Given the description of an element on the screen output the (x, y) to click on. 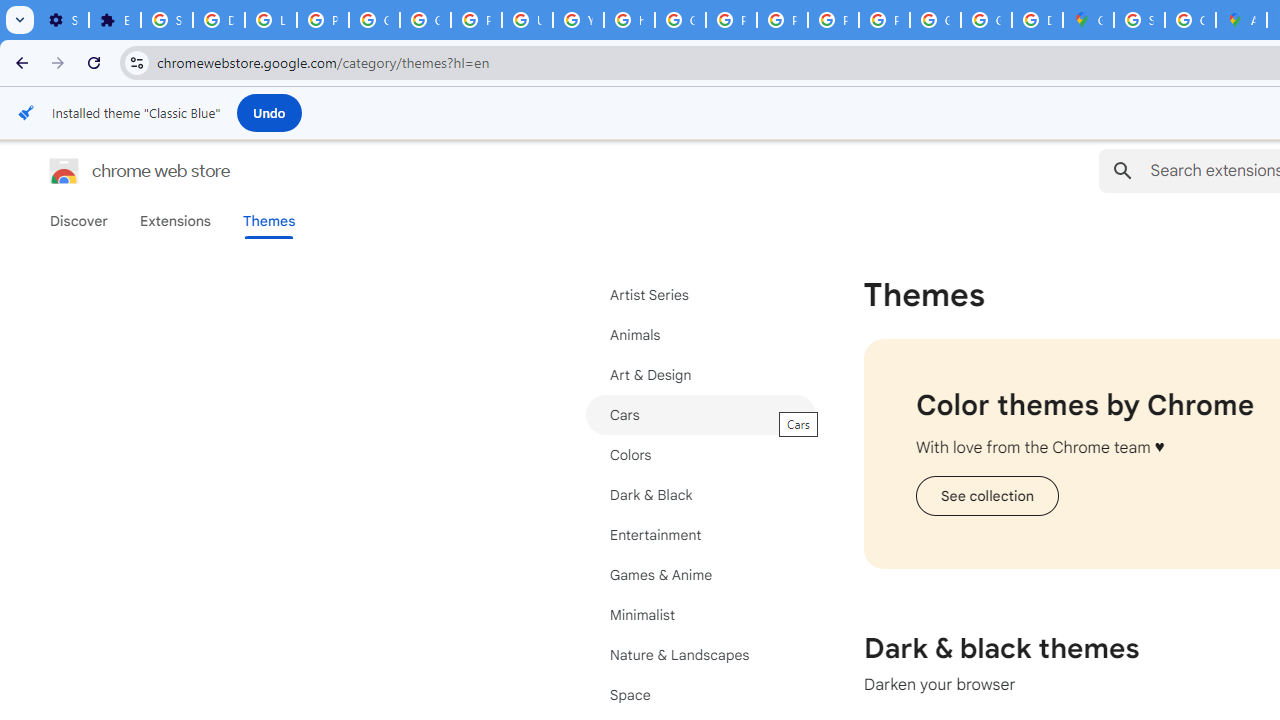
Google Maps (1087, 20)
See the "Color themes by Chrome" collection (986, 495)
Sign in - Google Accounts (1138, 20)
